Given the description of an element on the screen output the (x, y) to click on. 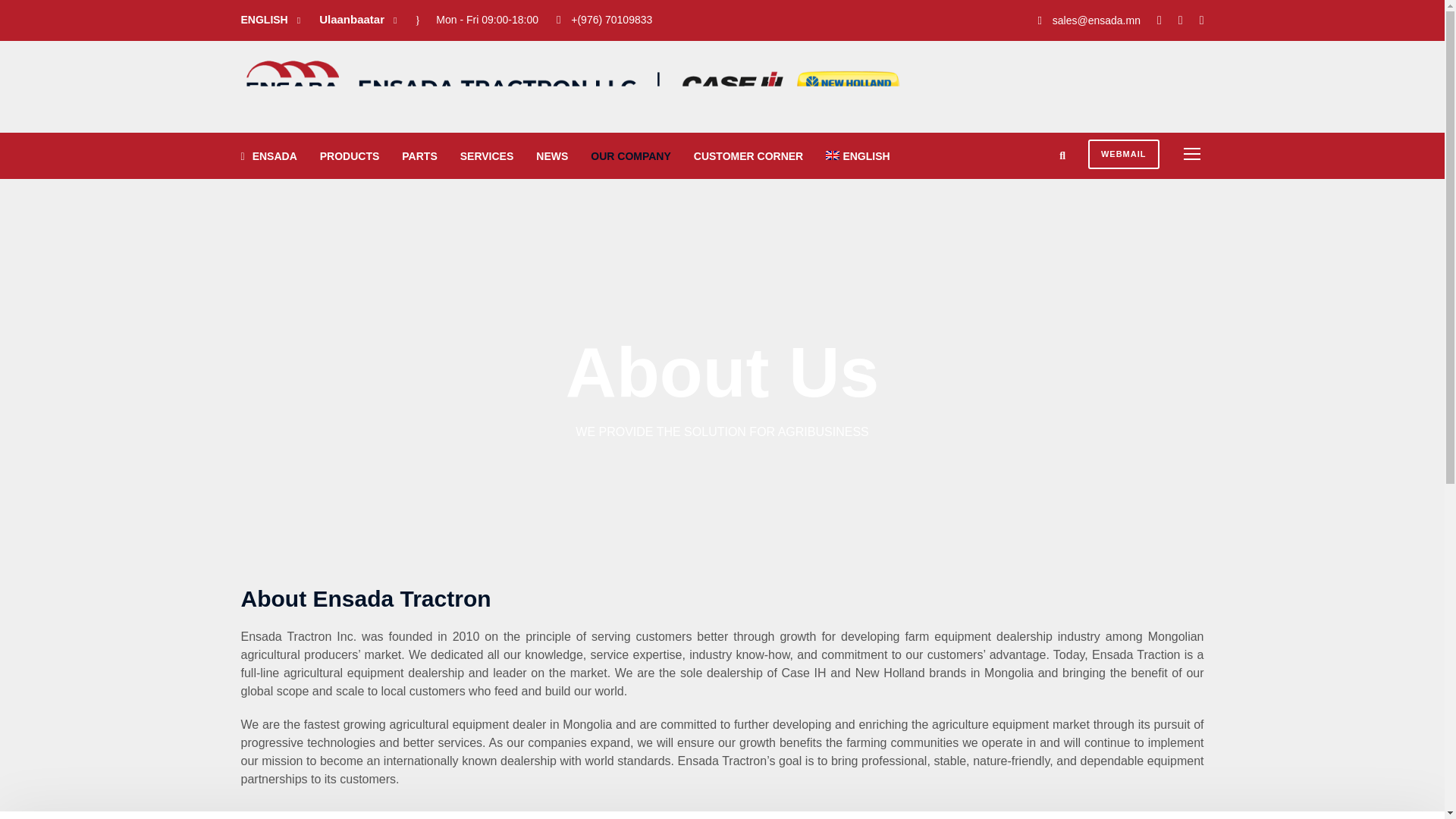
ENSADA (269, 163)
PRODUCTS (350, 163)
ENGLISH (857, 163)
